Given the description of an element on the screen output the (x, y) to click on. 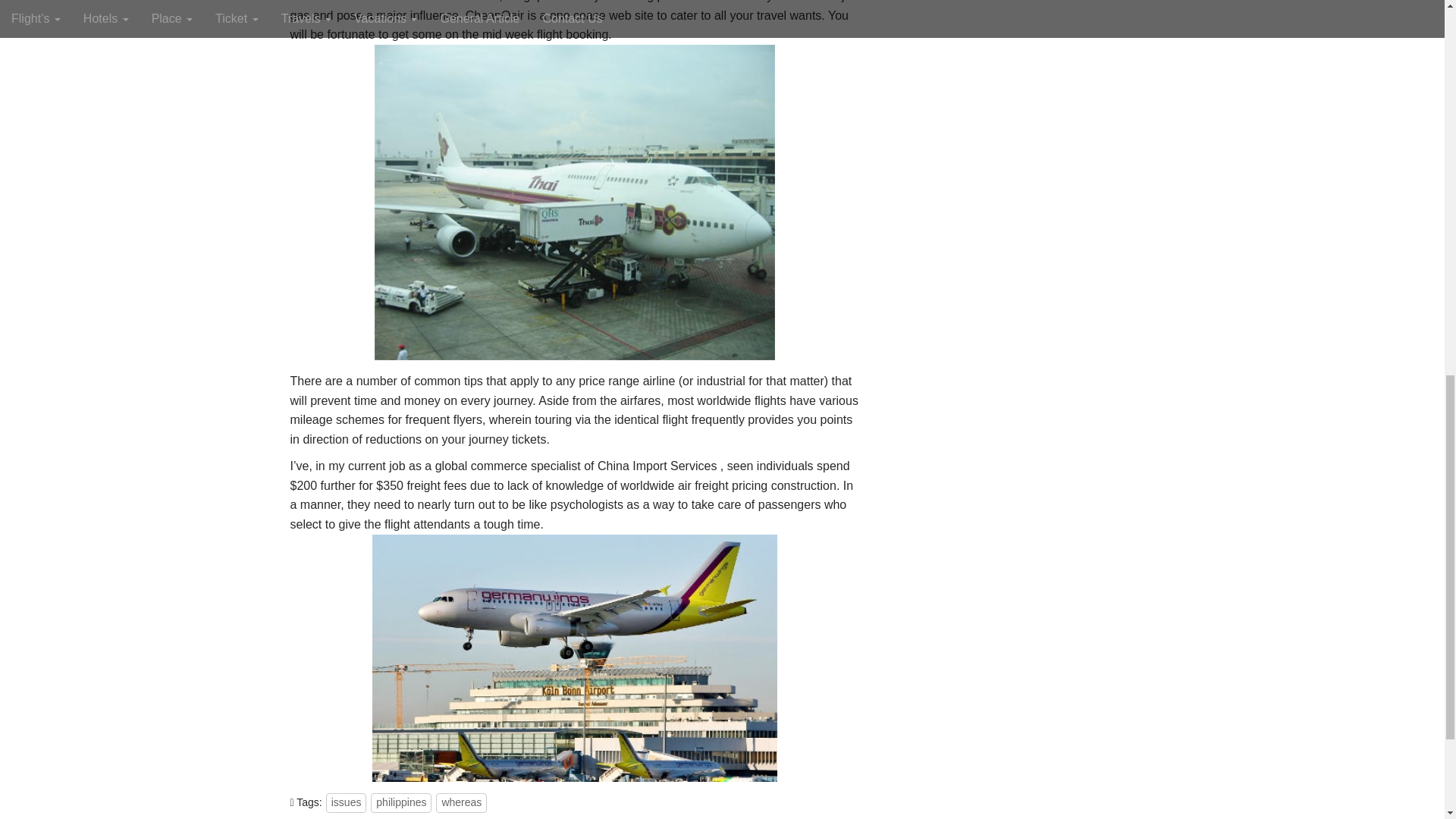
philippines (400, 803)
whereas (460, 803)
issues (346, 803)
